Given the description of an element on the screen output the (x, y) to click on. 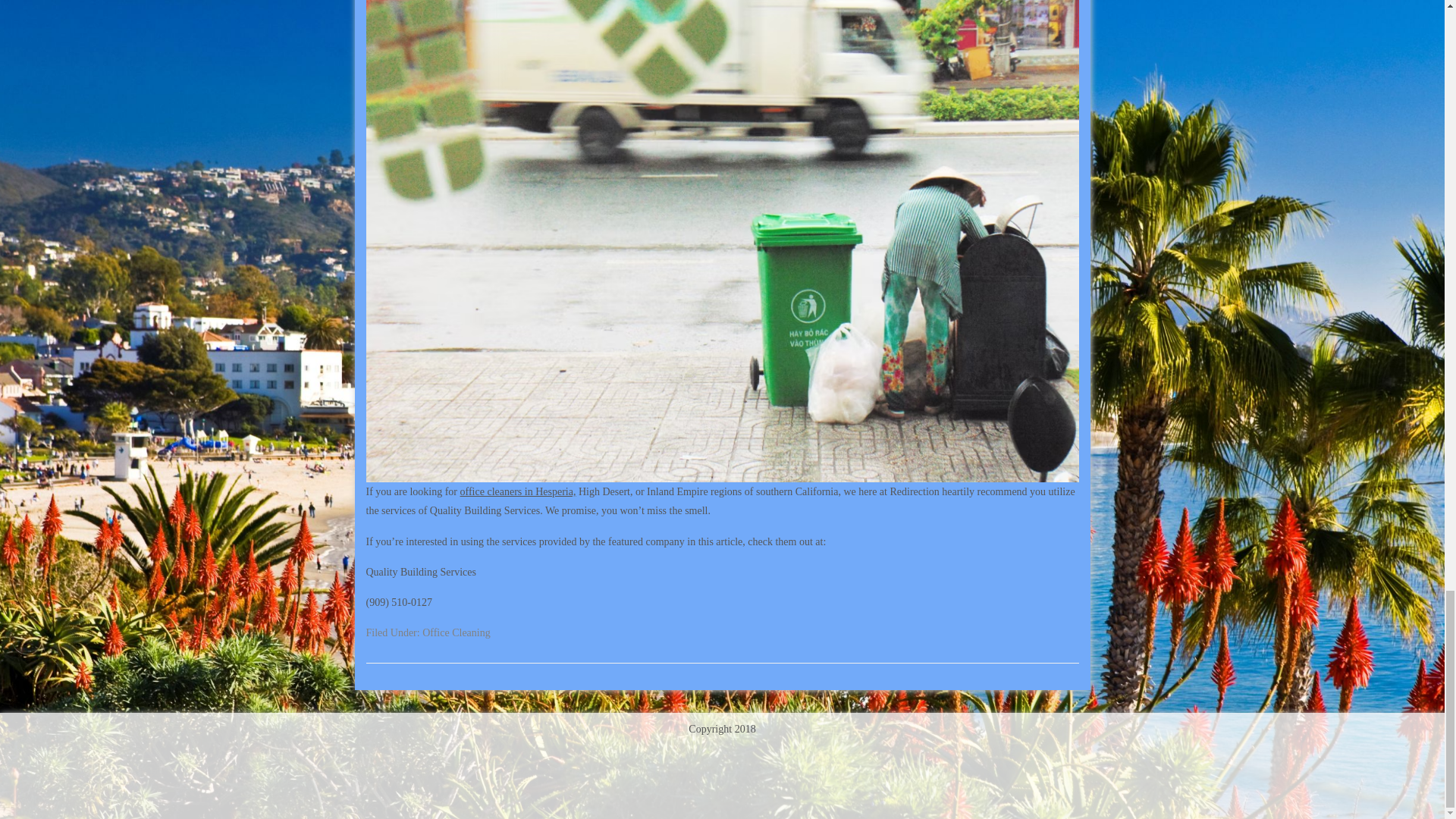
office cleaners in Hesperia, (518, 491)
Office Cleaning (456, 632)
